Given the description of an element on the screen output the (x, y) to click on. 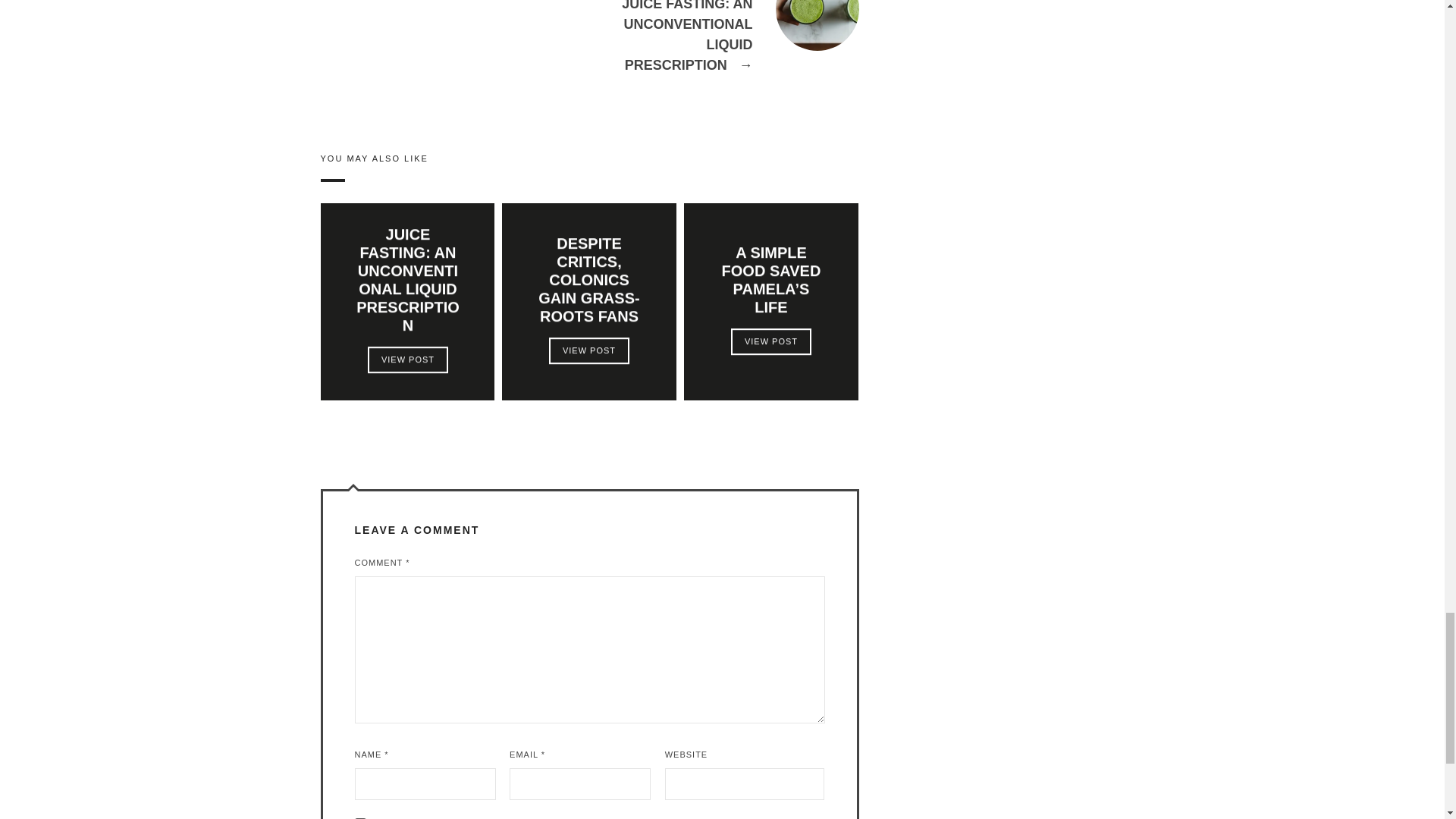
VIEW POST (406, 359)
VIEW POST (588, 350)
DESPITE CRITICS, COLONICS GAIN GRASS-ROOTS FANS (589, 279)
JUICE FASTING: AN UNCONVENTIONAL LIQUID PRESCRIPTION (407, 279)
JUICE FASTING: AN UNCONVENTIONAL LIQUID PRESCRIPTION (724, 55)
